Given the description of an element on the screen output the (x, y) to click on. 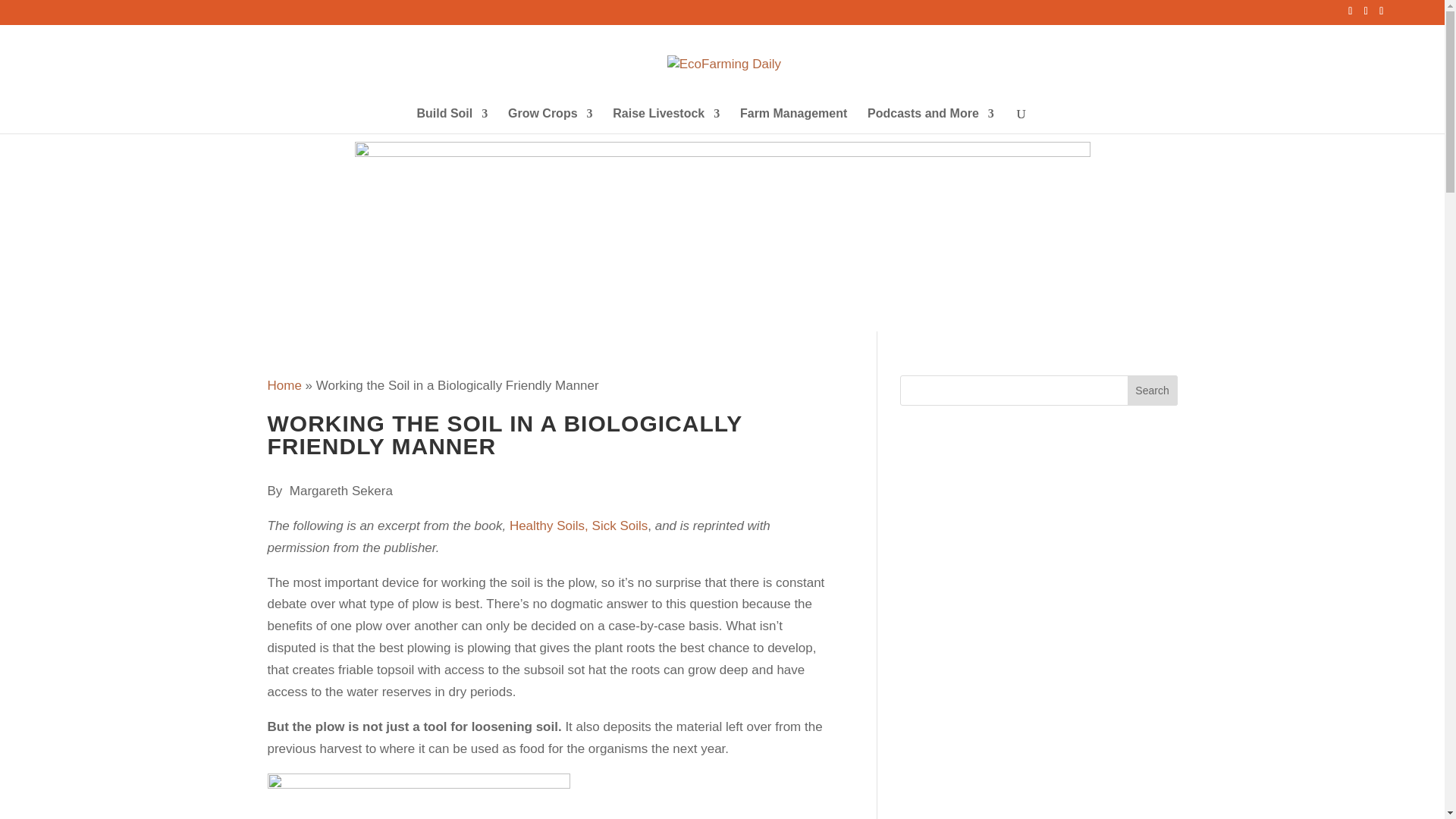
Podcasts and More (930, 120)
Search (1151, 390)
Healthy Soils, Sick Soils (578, 525)
Home (283, 385)
Search (1151, 390)
Raise Livestock (665, 120)
Build Soil (451, 120)
Grow Crops (550, 120)
Farm Management (793, 120)
